Given the description of an element on the screen output the (x, y) to click on. 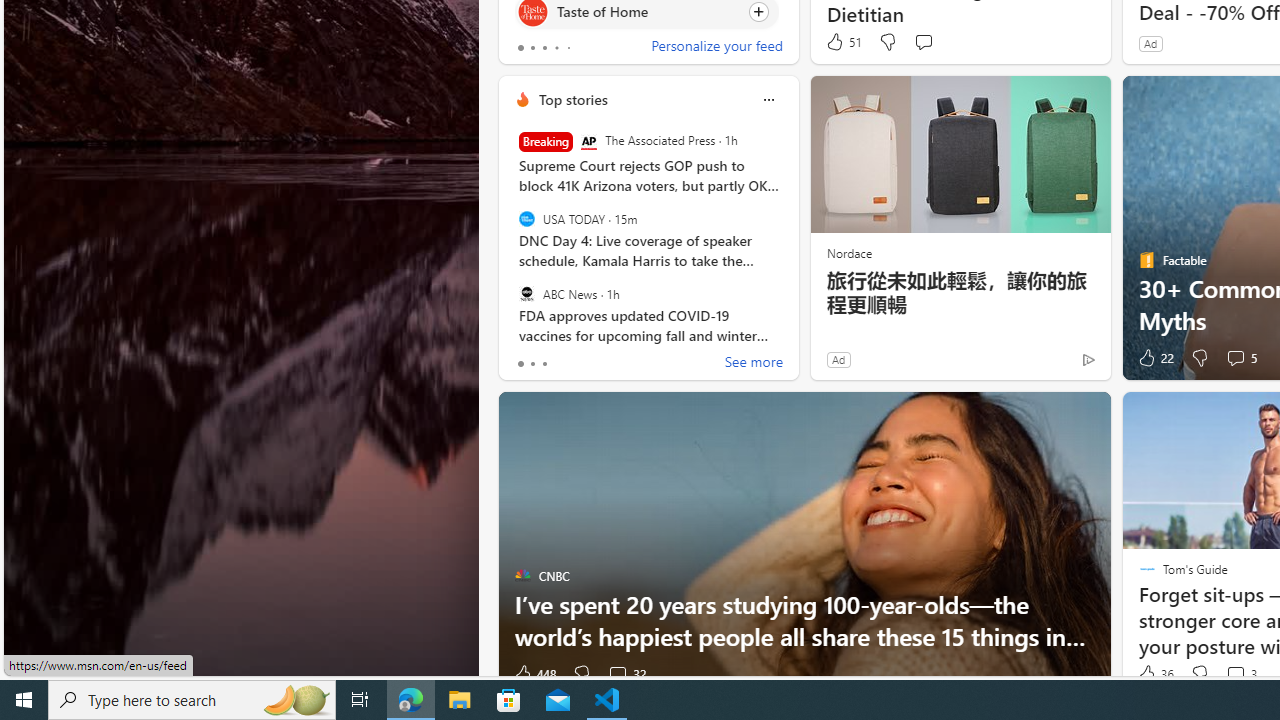
Ad (838, 359)
448 Like (534, 674)
Dislike (1199, 674)
USA TODAY (526, 219)
View comments 32 Comment (626, 674)
View comments 5 Comment (1234, 357)
View comments 32 Comment (617, 673)
More options (768, 99)
Top stories (572, 99)
Ad Choice (1087, 359)
tab-1 (532, 363)
ABC News (526, 293)
tab-3 (556, 47)
